Given the description of an element on the screen output the (x, y) to click on. 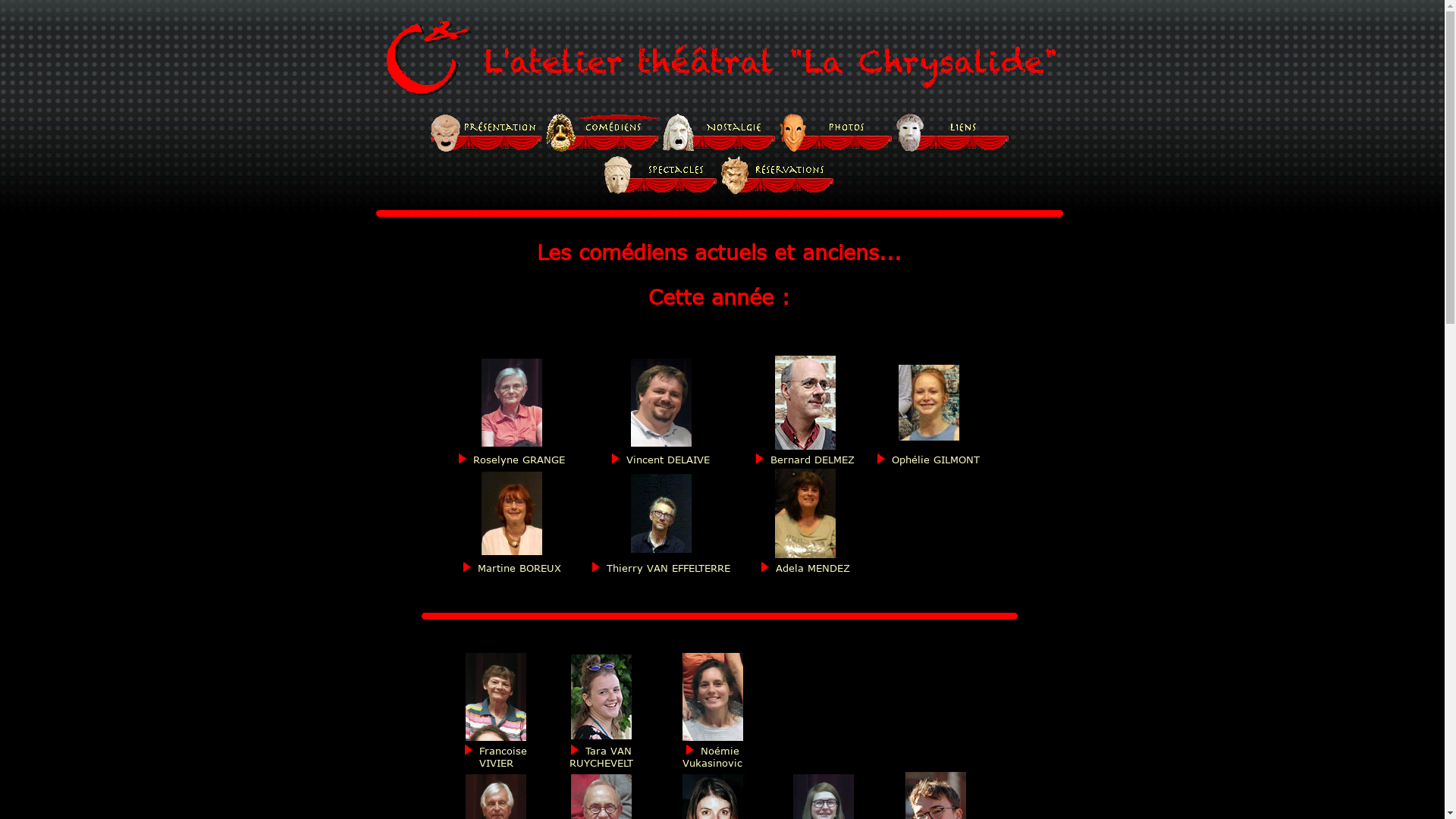
Liens Element type: hover (953, 132)
Accueil  Element type: hover (485, 132)
Photos Element type: hover (836, 132)
